Given the description of an element on the screen output the (x, y) to click on. 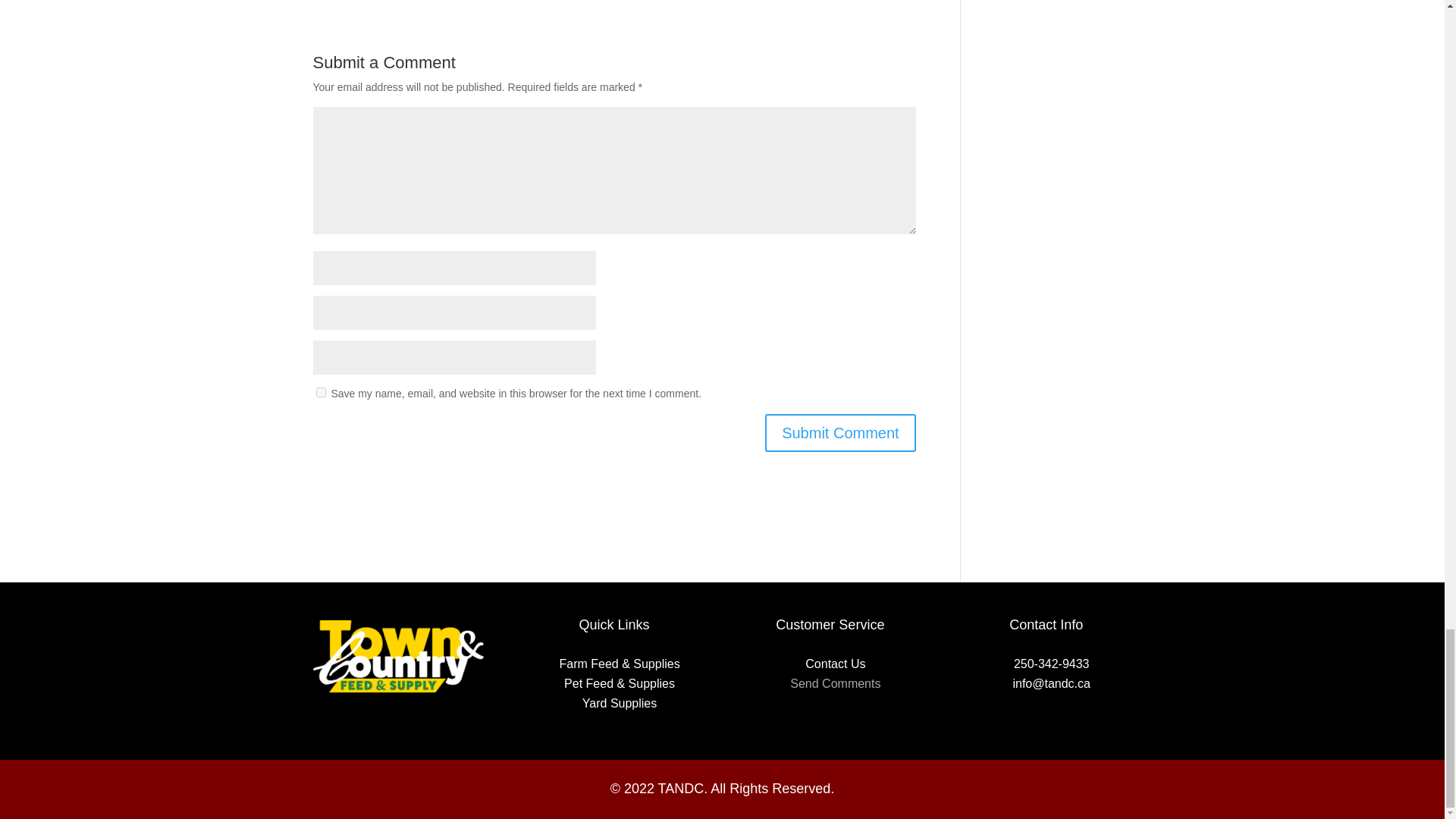
logo (398, 656)
Submit Comment (840, 433)
yes (319, 392)
